Given the description of an element on the screen output the (x, y) to click on. 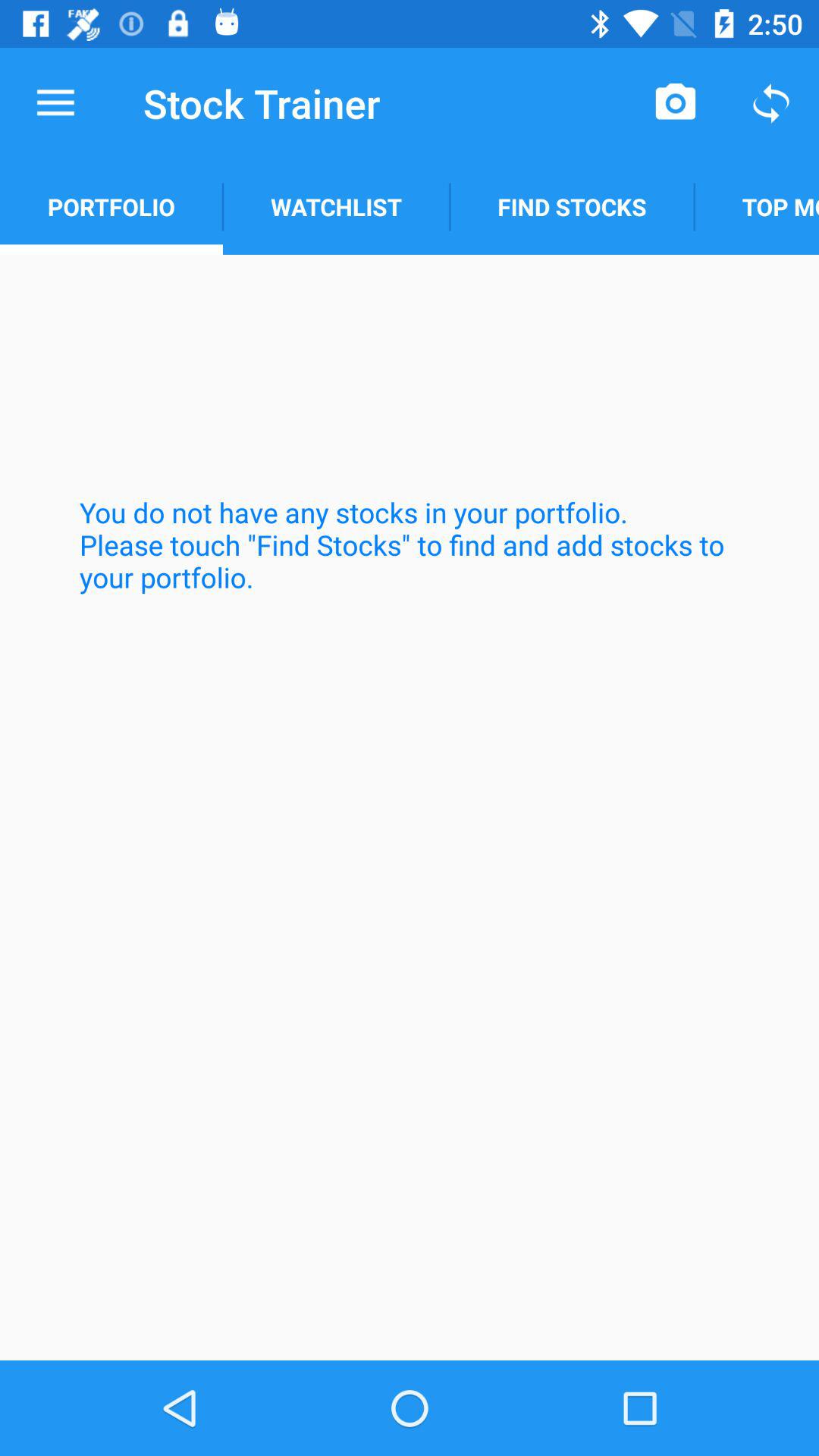
turn off icon next to stock trainer (55, 103)
